Given the description of an element on the screen output the (x, y) to click on. 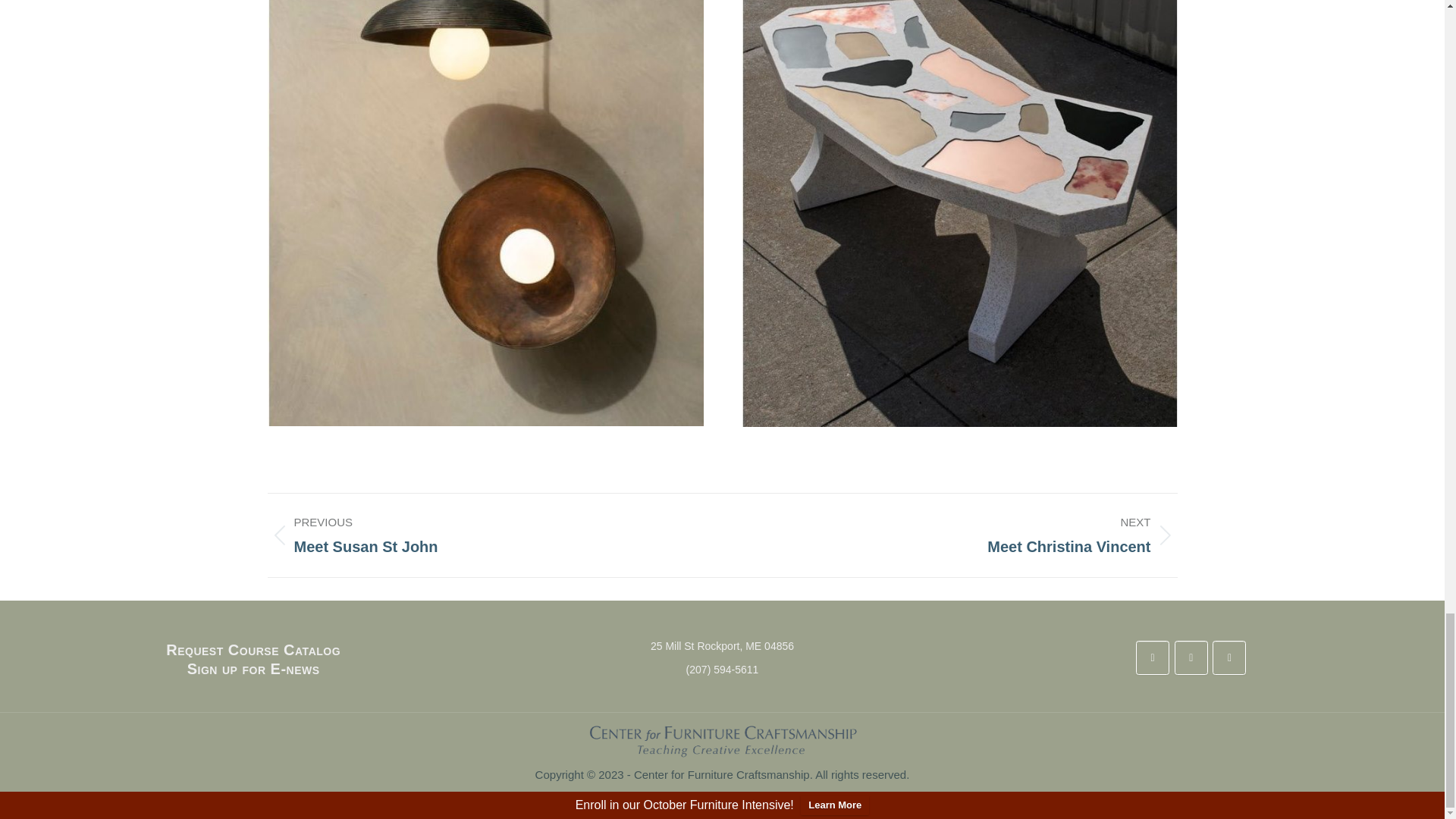
Center for Furniture Craftsmanship on Instagram (1191, 657)
Center for Furniture Craftsmanship on Facebook (1152, 657)
Center for Furniture Craftsmanship on Youtube (1229, 657)
